Given the description of an element on the screen output the (x, y) to click on. 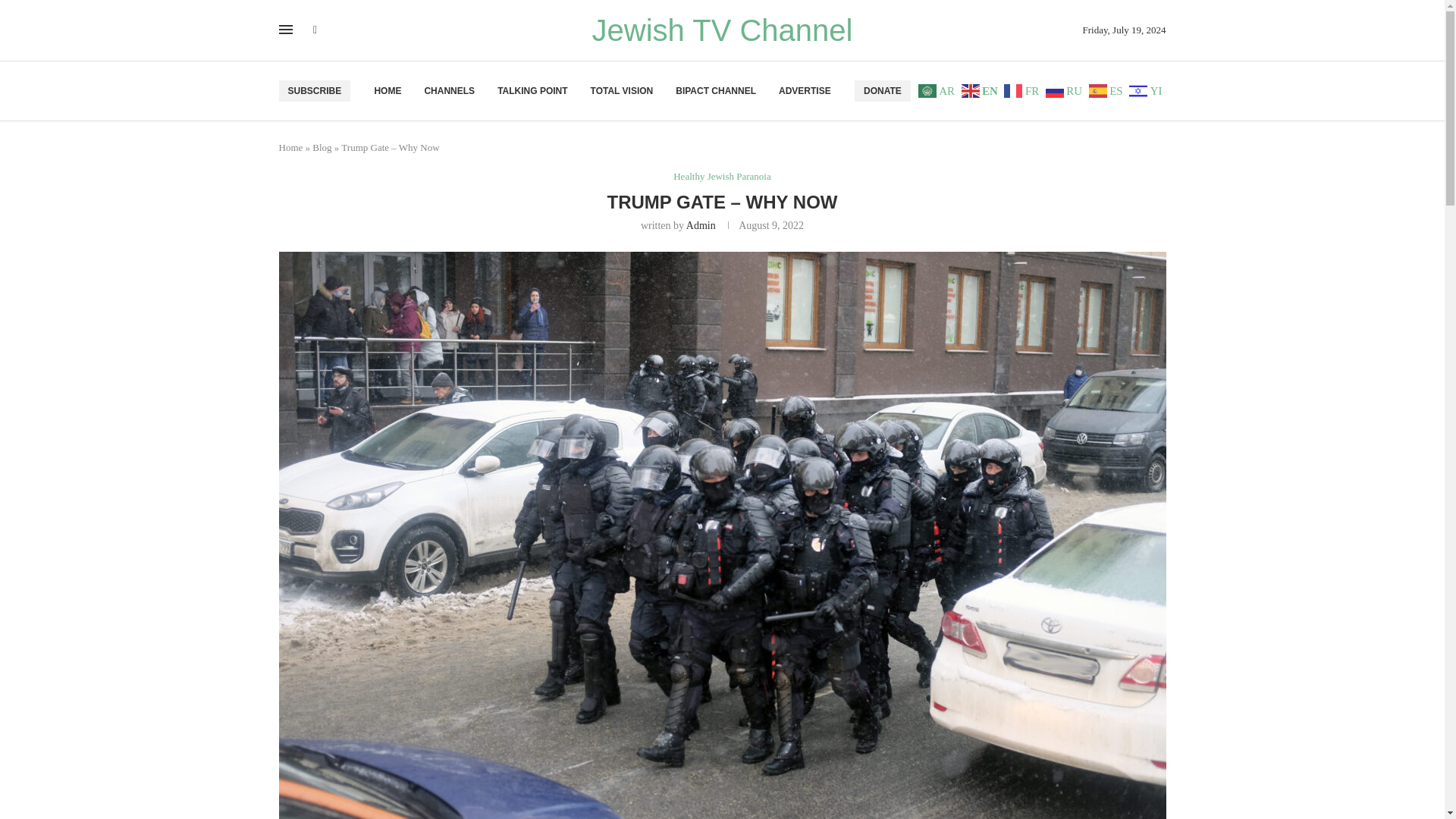
Jewish TV Channel (722, 30)
Spanish (1107, 89)
English (980, 89)
Yiddish (1147, 89)
YI (1147, 89)
RU (1065, 89)
DONATE (882, 90)
Arabic (938, 89)
CHANNELS (448, 90)
EN (980, 89)
TOTAL VISION (622, 90)
ES (1107, 89)
AR (938, 89)
TALKING POINT (532, 90)
BIPACT CHANNEL (715, 90)
